Given the description of an element on the screen output the (x, y) to click on. 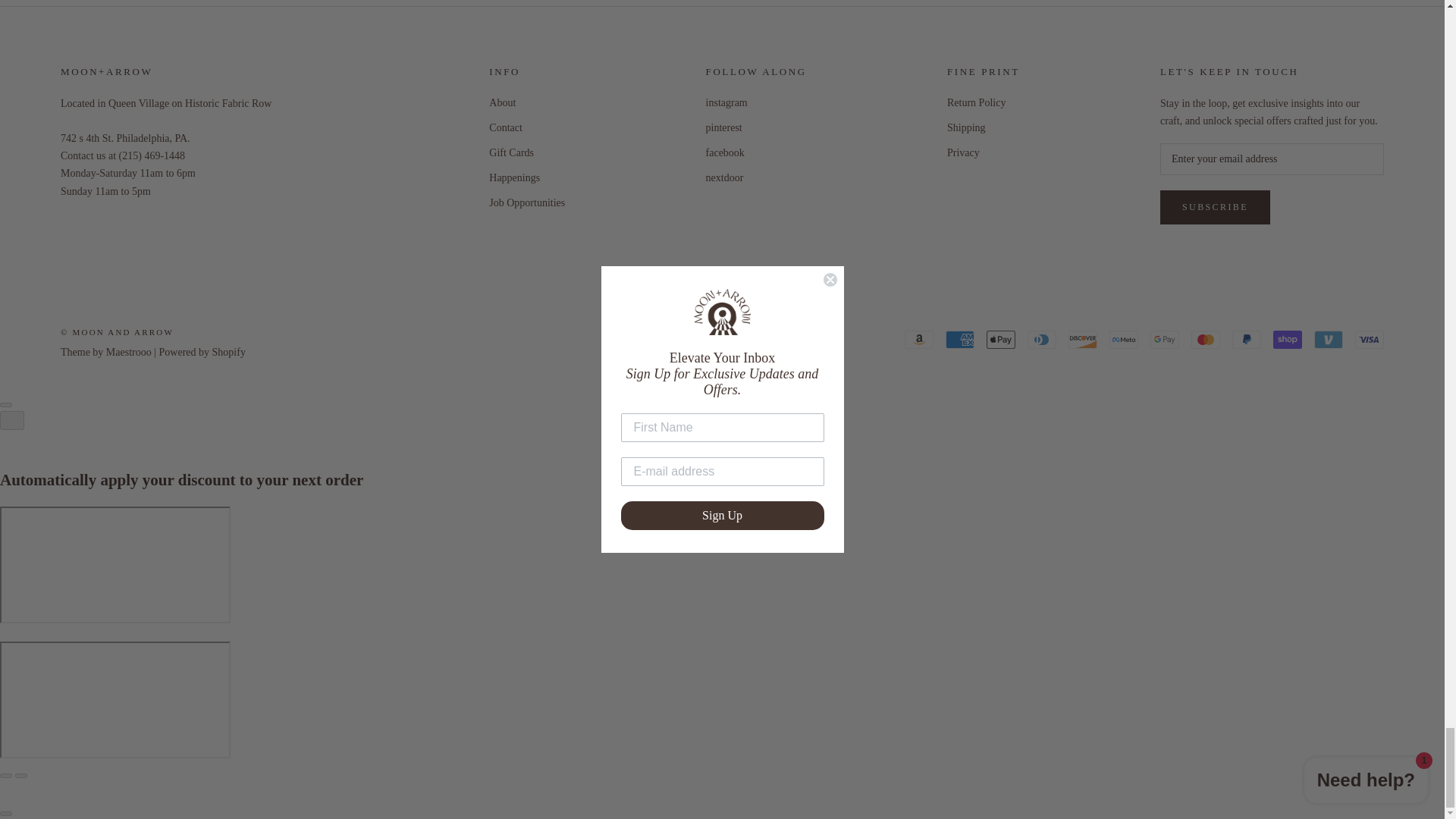
PayPal (1245, 339)
American Express (959, 339)
Shop Pay (1286, 339)
Visa (1369, 339)
Mastercard (1205, 339)
Amazon (918, 339)
Google Pay (1164, 339)
Diners Club (1042, 339)
Meta Pay (1123, 339)
Venmo (1328, 339)
Apple Pay (1000, 339)
Discover (1082, 339)
